Given the description of an element on the screen output the (x, y) to click on. 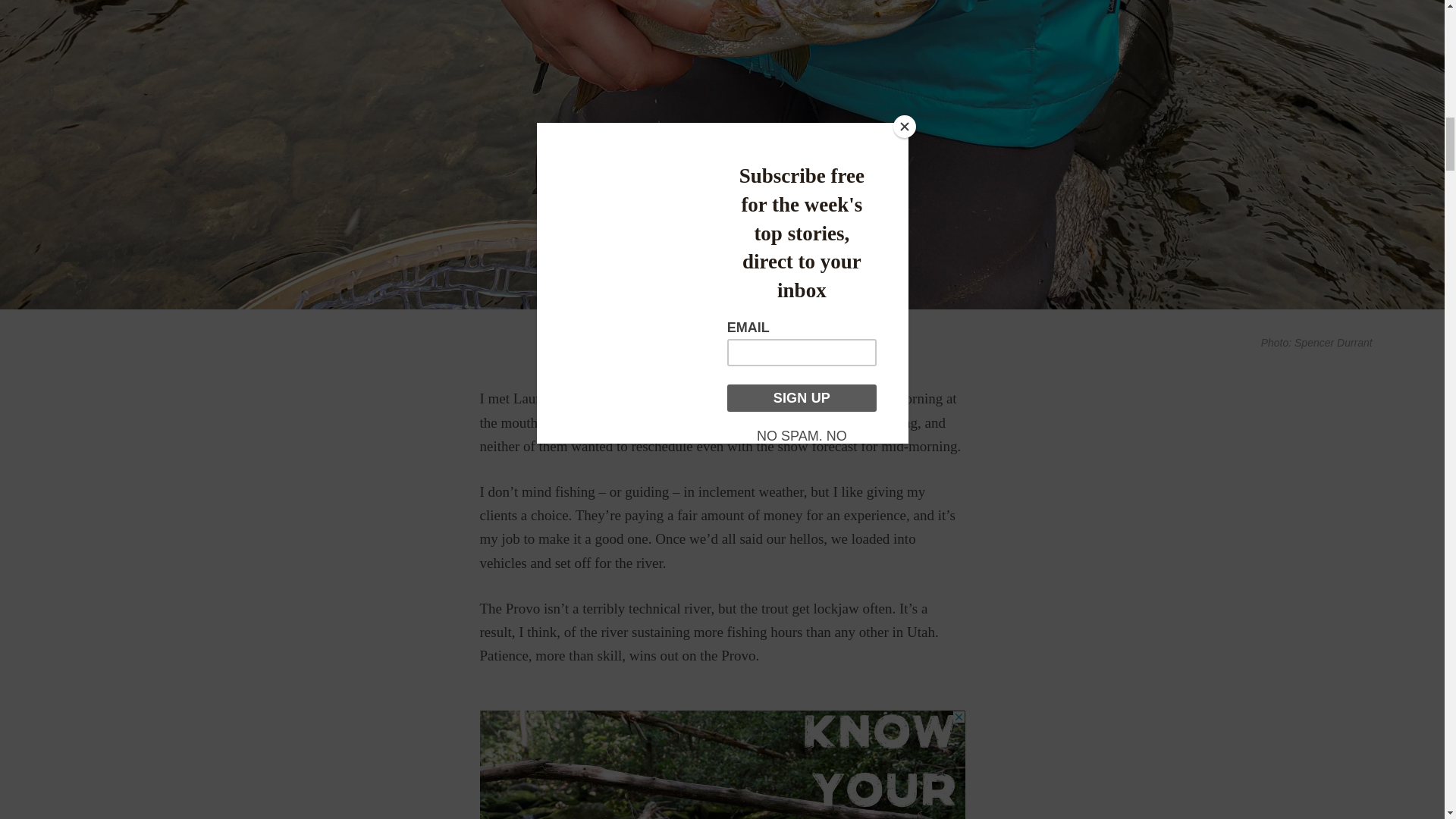
3rd party ad content (721, 764)
